Given the description of an element on the screen output the (x, y) to click on. 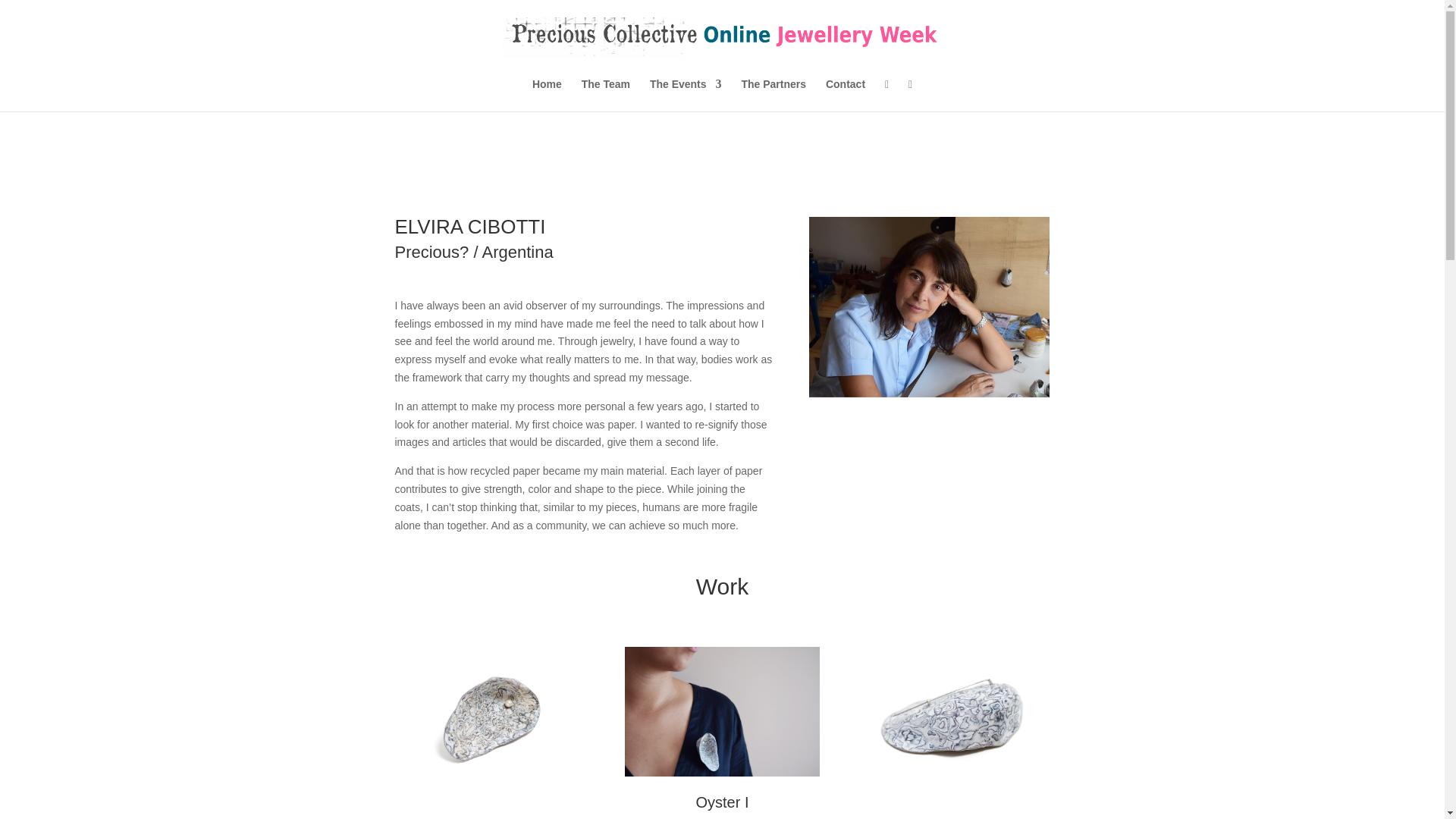
Precious 2021 Elvira Cibotti (491, 711)
The Partners (773, 94)
The Team (605, 94)
Follow on Instagram (1006, 487)
Follow on RSS (1037, 487)
Precious 2021 Elvira Cibotti (929, 337)
Home (547, 94)
Precious 2021 Elvira Cibotti (952, 711)
The Events (685, 94)
Contact (844, 94)
Precious 2021 Elvira Cibotti (721, 711)
